Given the description of an element on the screen output the (x, y) to click on. 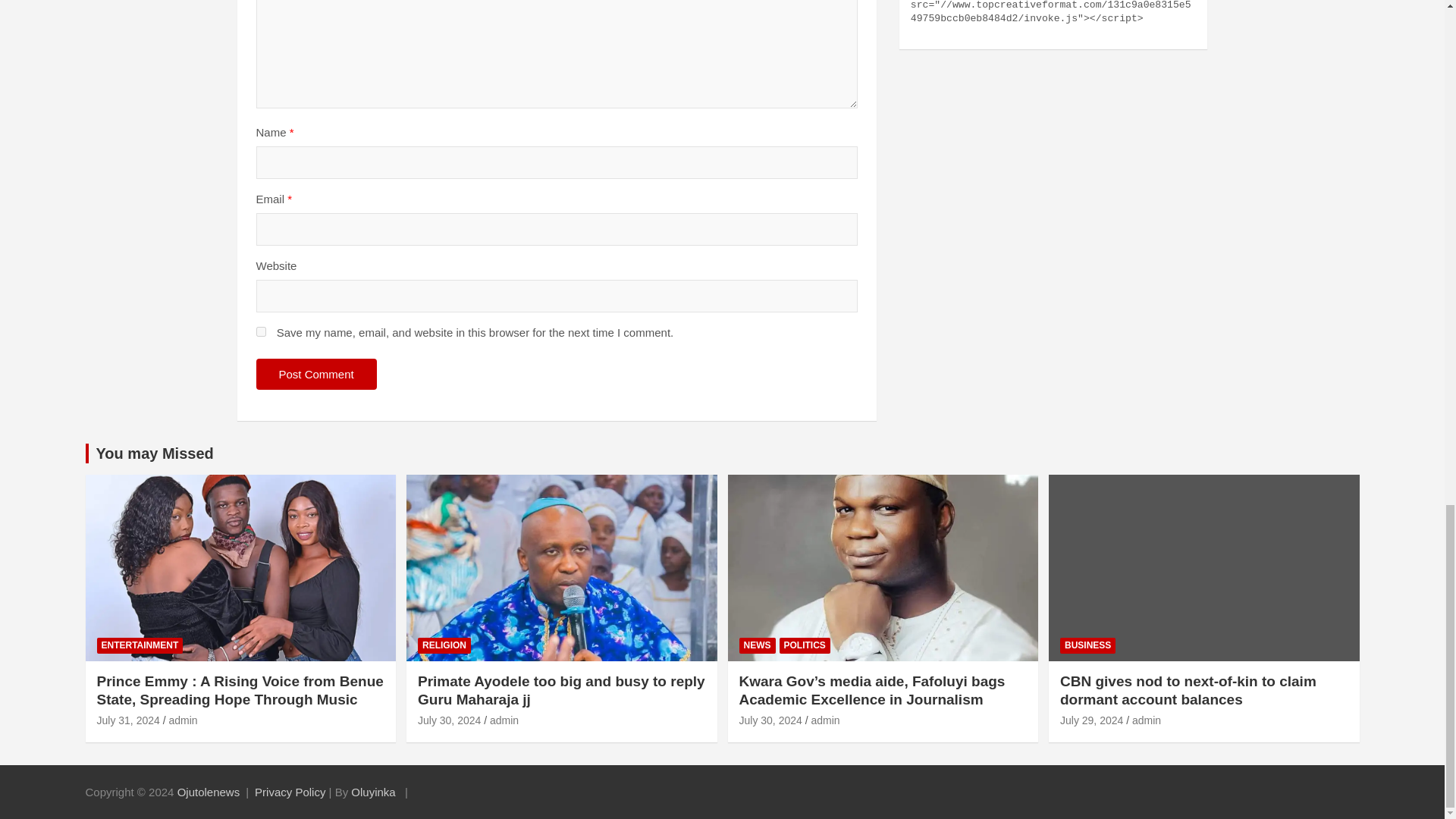
Post Comment (316, 373)
Primate Ayodele too big and busy to reply Guru Maharaja jj (448, 720)
yes (261, 331)
Ojutolenews (208, 791)
